Given the description of an element on the screen output the (x, y) to click on. 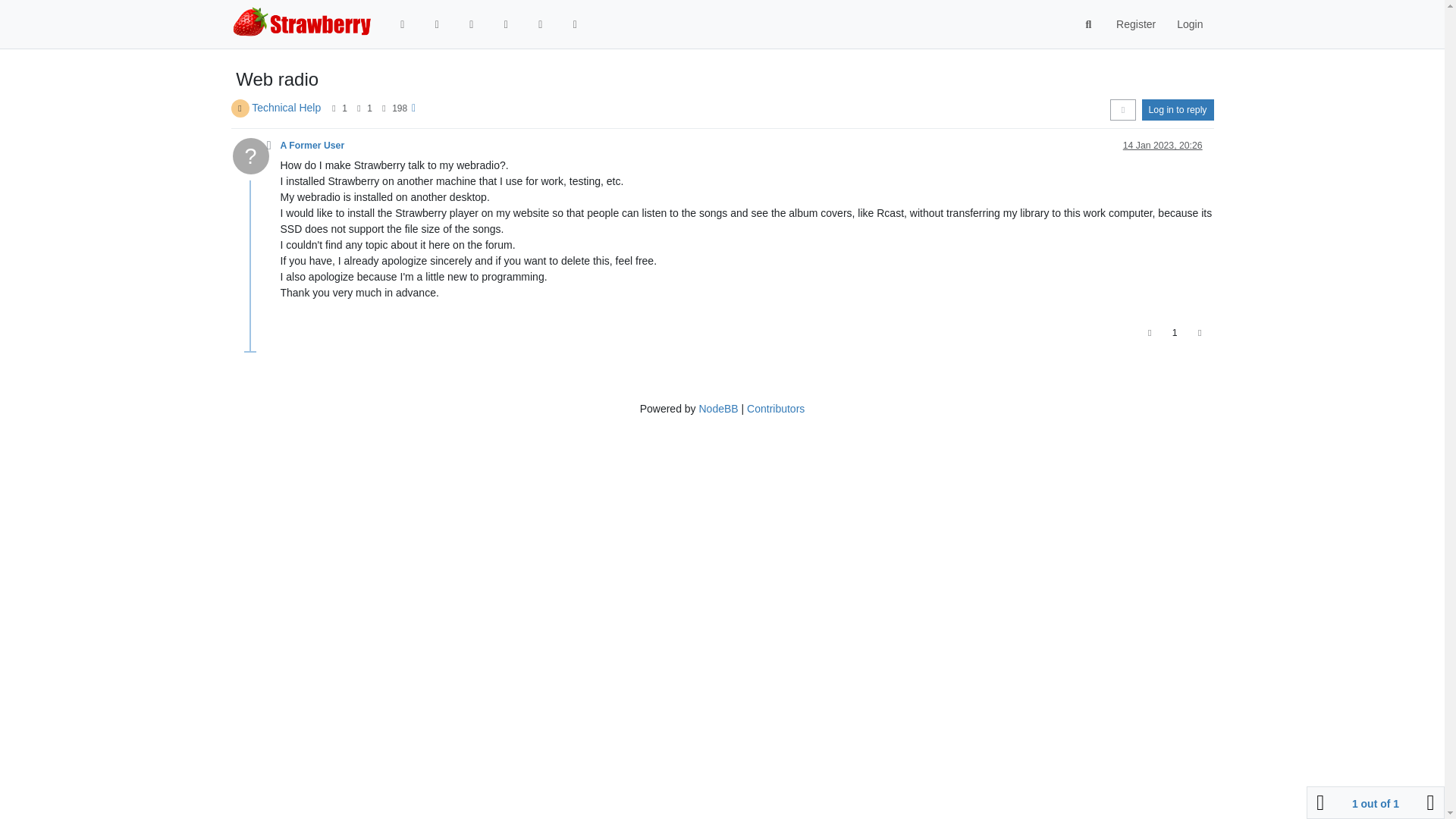
Register (1135, 24)
Users (539, 24)
Search (1088, 24)
Categories (402, 24)
Recent (437, 24)
Technical Help (285, 107)
Groups (574, 24)
Popular (504, 24)
? (255, 159)
Tags (471, 24)
Login (1189, 24)
Log in to reply (1177, 109)
14 Jan 2023, 20:26 (1162, 145)
A Former User (313, 145)
